Given the description of an element on the screen output the (x, y) to click on. 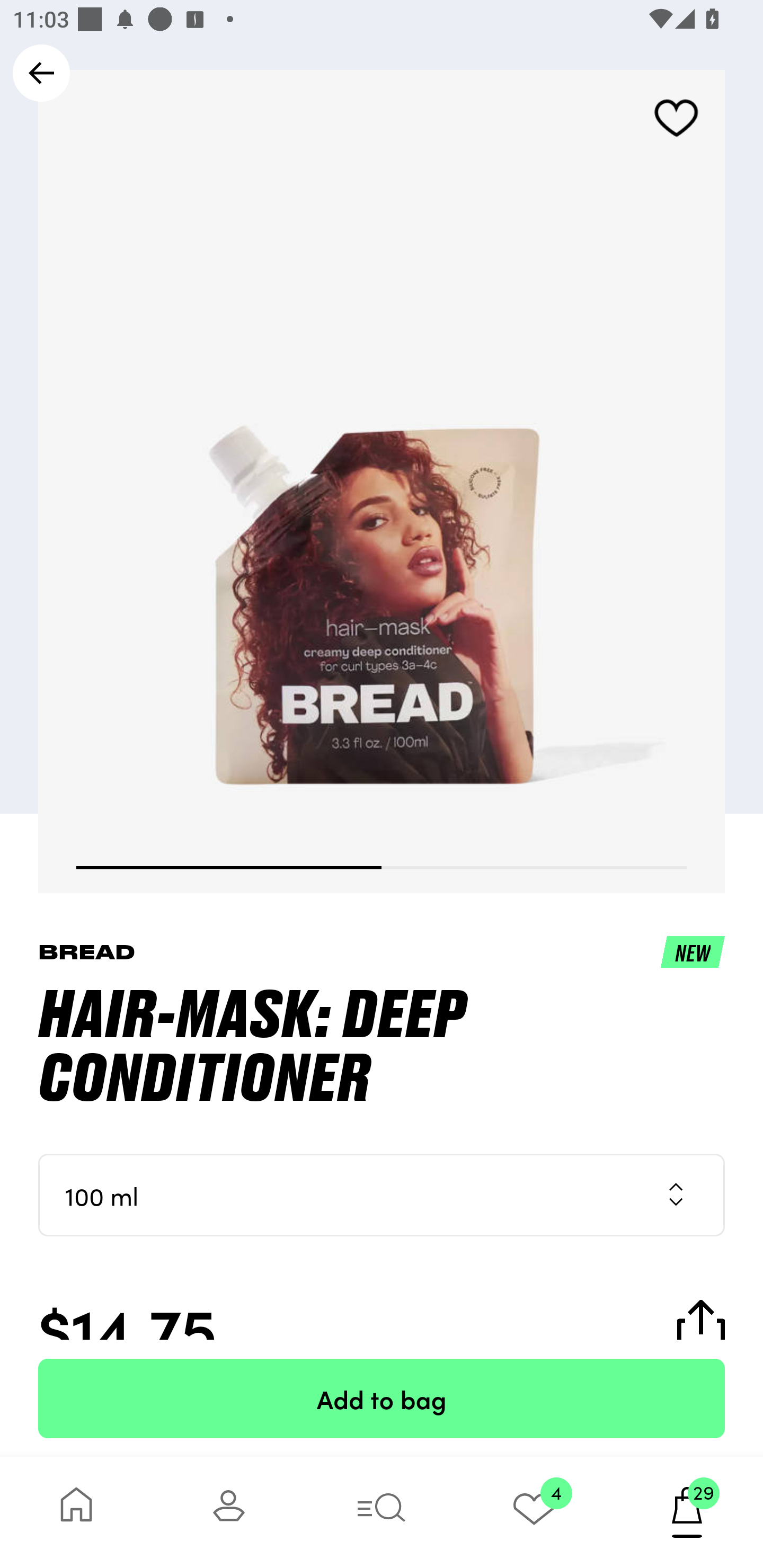
100 ml  (381, 1195)
Add to bag (381, 1398)
4 (533, 1512)
29 (686, 1512)
